Given the description of an element on the screen output the (x, y) to click on. 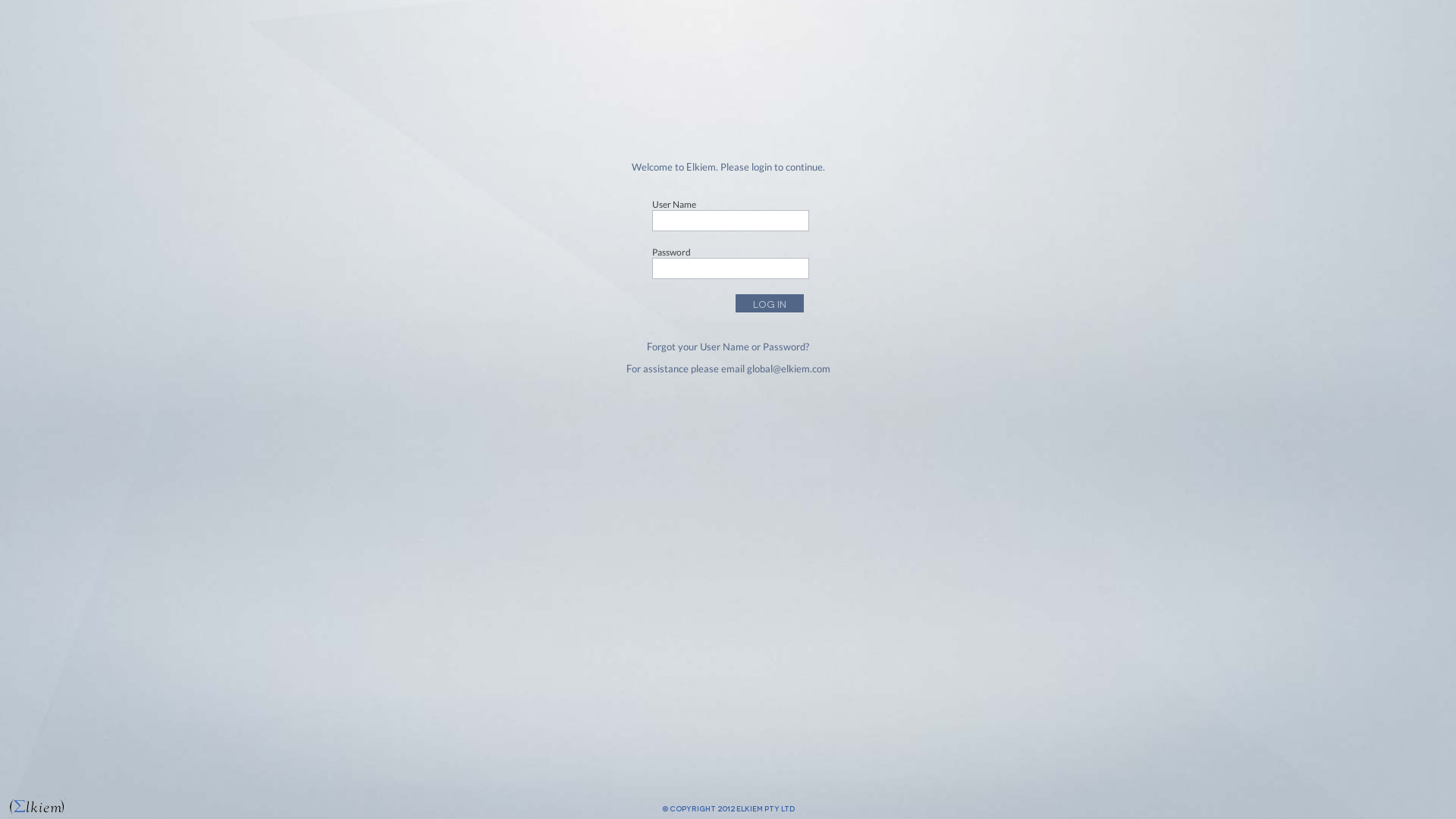
Log in Element type: text (769, 303)
global@elkiem.com Element type: text (787, 368)
Forgot your User Name or Password? Element type: text (727, 346)
